Given the description of an element on the screen output the (x, y) to click on. 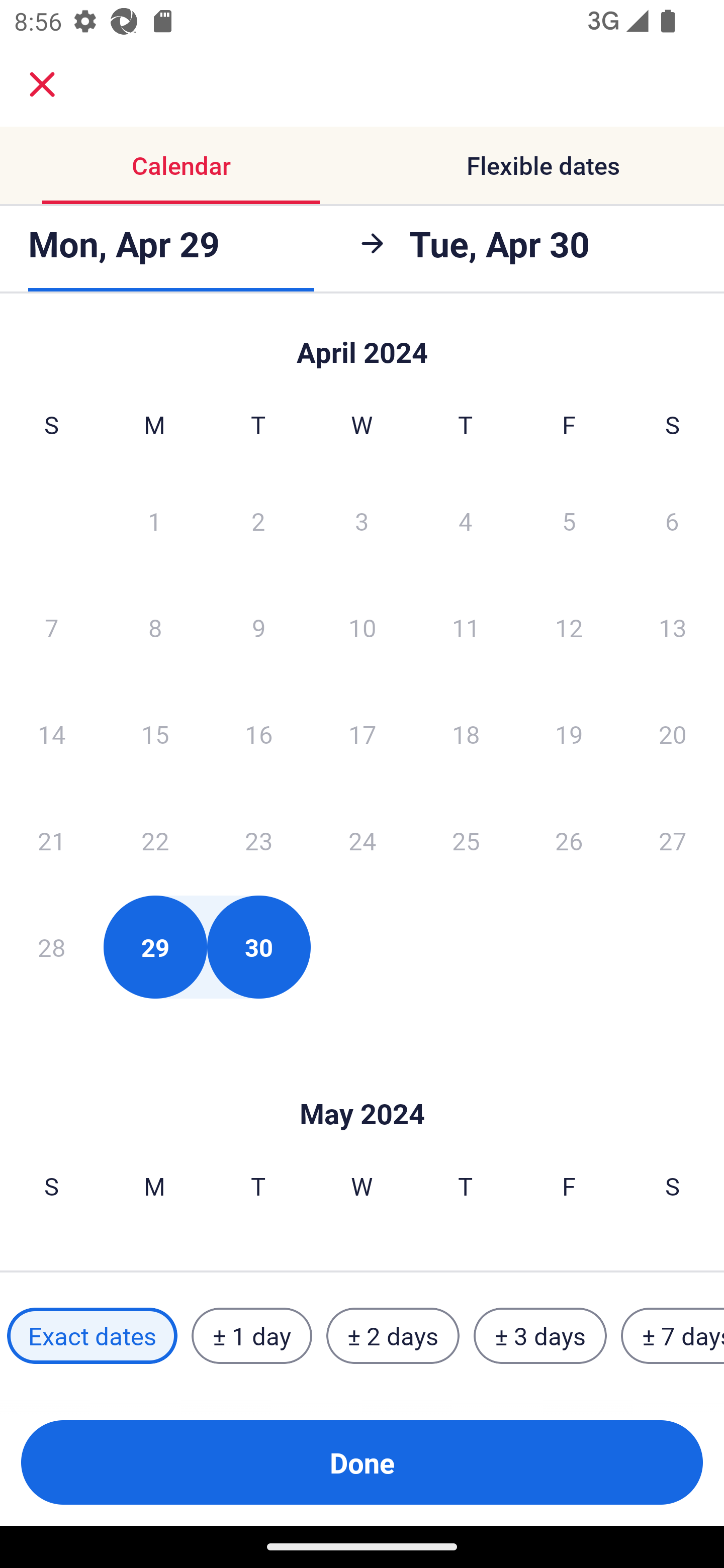
close. (42, 84)
Flexible dates (542, 164)
Skip to Done (362, 343)
1 Monday, April 1, 2024 (154, 520)
2 Tuesday, April 2, 2024 (257, 520)
3 Wednesday, April 3, 2024 (361, 520)
4 Thursday, April 4, 2024 (465, 520)
5 Friday, April 5, 2024 (568, 520)
6 Saturday, April 6, 2024 (672, 520)
7 Sunday, April 7, 2024 (51, 626)
8 Monday, April 8, 2024 (155, 626)
9 Tuesday, April 9, 2024 (258, 626)
10 Wednesday, April 10, 2024 (362, 626)
11 Thursday, April 11, 2024 (465, 626)
12 Friday, April 12, 2024 (569, 626)
13 Saturday, April 13, 2024 (672, 626)
14 Sunday, April 14, 2024 (51, 733)
15 Monday, April 15, 2024 (155, 733)
16 Tuesday, April 16, 2024 (258, 733)
17 Wednesday, April 17, 2024 (362, 733)
18 Thursday, April 18, 2024 (465, 733)
19 Friday, April 19, 2024 (569, 733)
20 Saturday, April 20, 2024 (672, 733)
21 Sunday, April 21, 2024 (51, 840)
22 Monday, April 22, 2024 (155, 840)
23 Tuesday, April 23, 2024 (258, 840)
24 Wednesday, April 24, 2024 (362, 840)
25 Thursday, April 25, 2024 (465, 840)
26 Friday, April 26, 2024 (569, 840)
27 Saturday, April 27, 2024 (672, 840)
28 Sunday, April 28, 2024 (51, 946)
Skip to Done (362, 1083)
Exact dates (92, 1335)
± 1 day (251, 1335)
± 2 days (392, 1335)
± 3 days (539, 1335)
± 7 days (672, 1335)
Done (361, 1462)
